Given the description of an element on the screen output the (x, y) to click on. 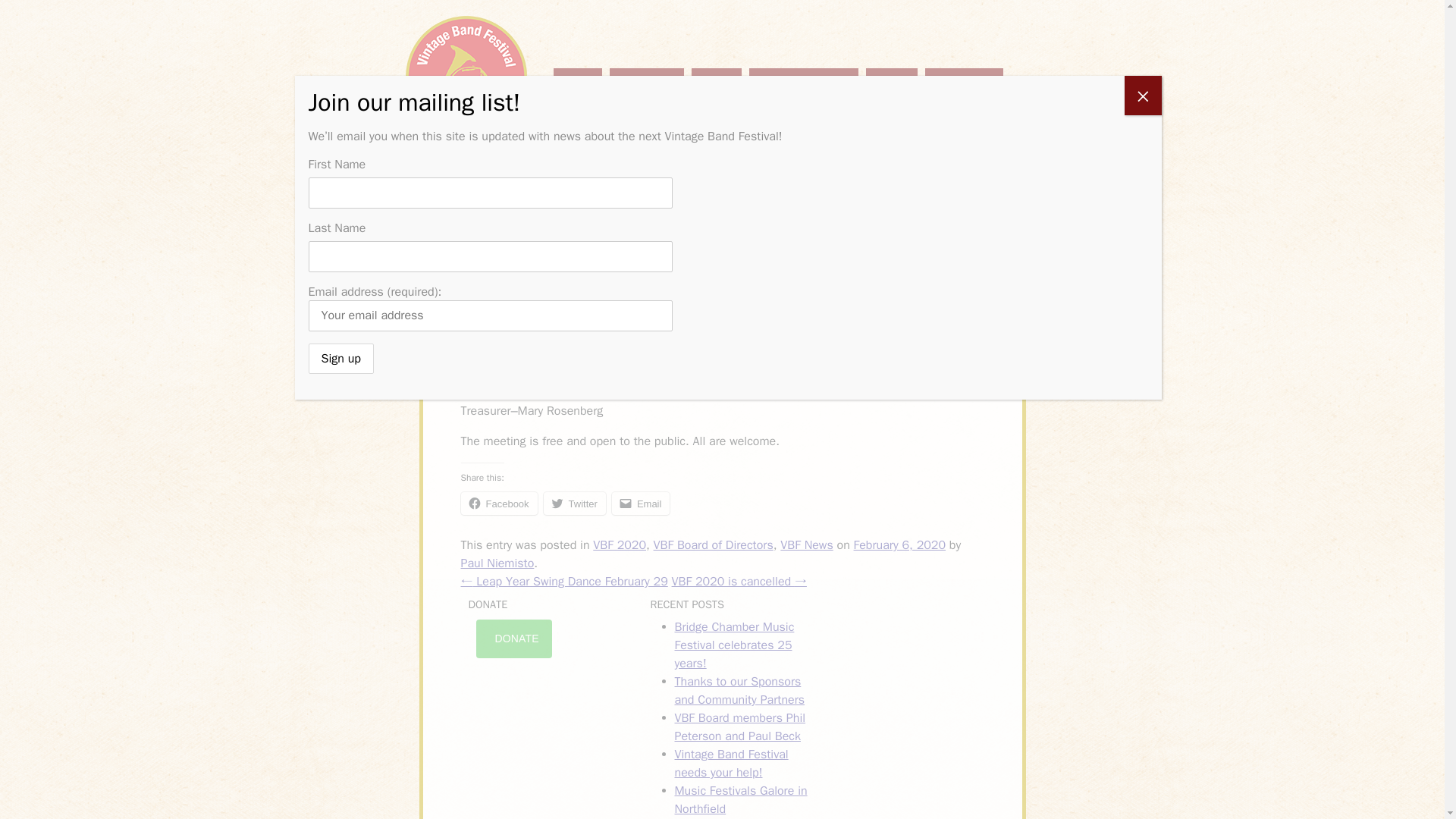
Past VBFs (963, 82)
VBF 2024 (647, 82)
Click to share on Facebook (499, 503)
Vintage Band Festival (466, 76)
Click to share on Twitter (574, 503)
Vintage Band Festival home page (466, 76)
3:34 pm (898, 544)
Sign up (339, 358)
Click to email a link to a friend (640, 503)
About (716, 82)
